Given the description of an element on the screen output the (x, y) to click on. 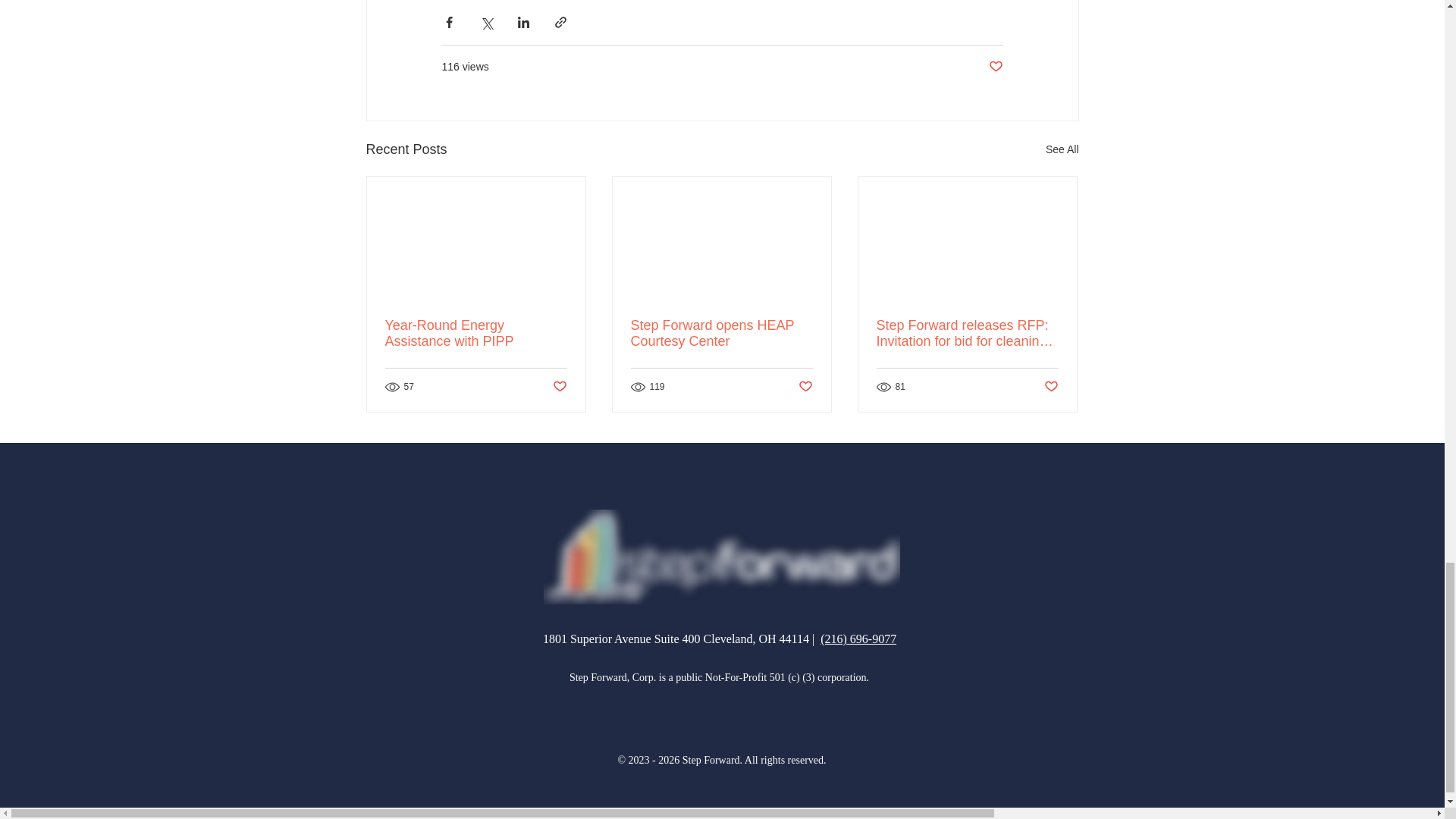
Step Forward Logo (721, 556)
